Given the description of an element on the screen output the (x, y) to click on. 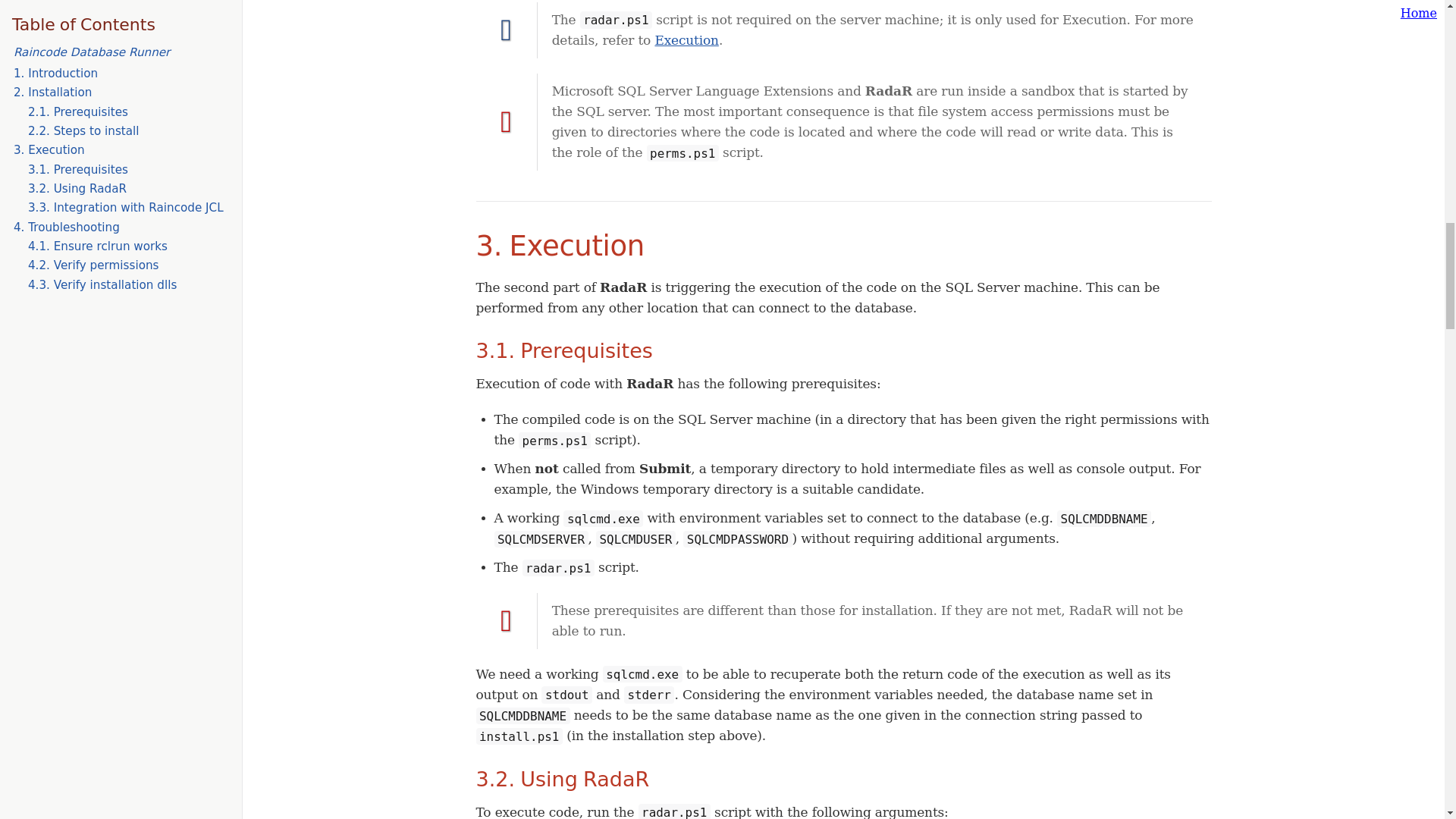
Important (506, 621)
Execution (685, 39)
Note (506, 30)
Important (506, 122)
